Given the description of an element on the screen output the (x, y) to click on. 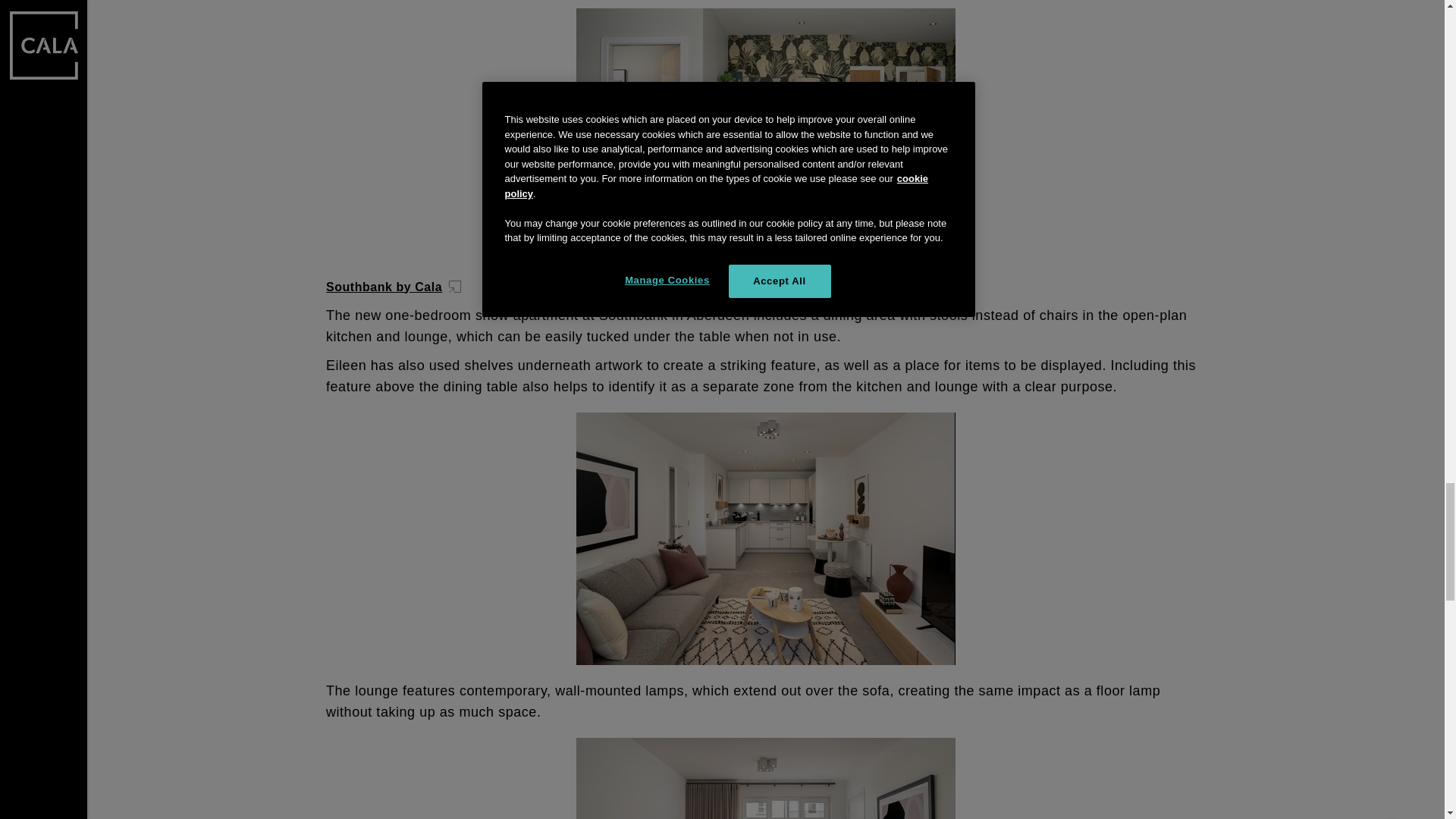
Southbank by Cala (395, 287)
